Given the description of an element on the screen output the (x, y) to click on. 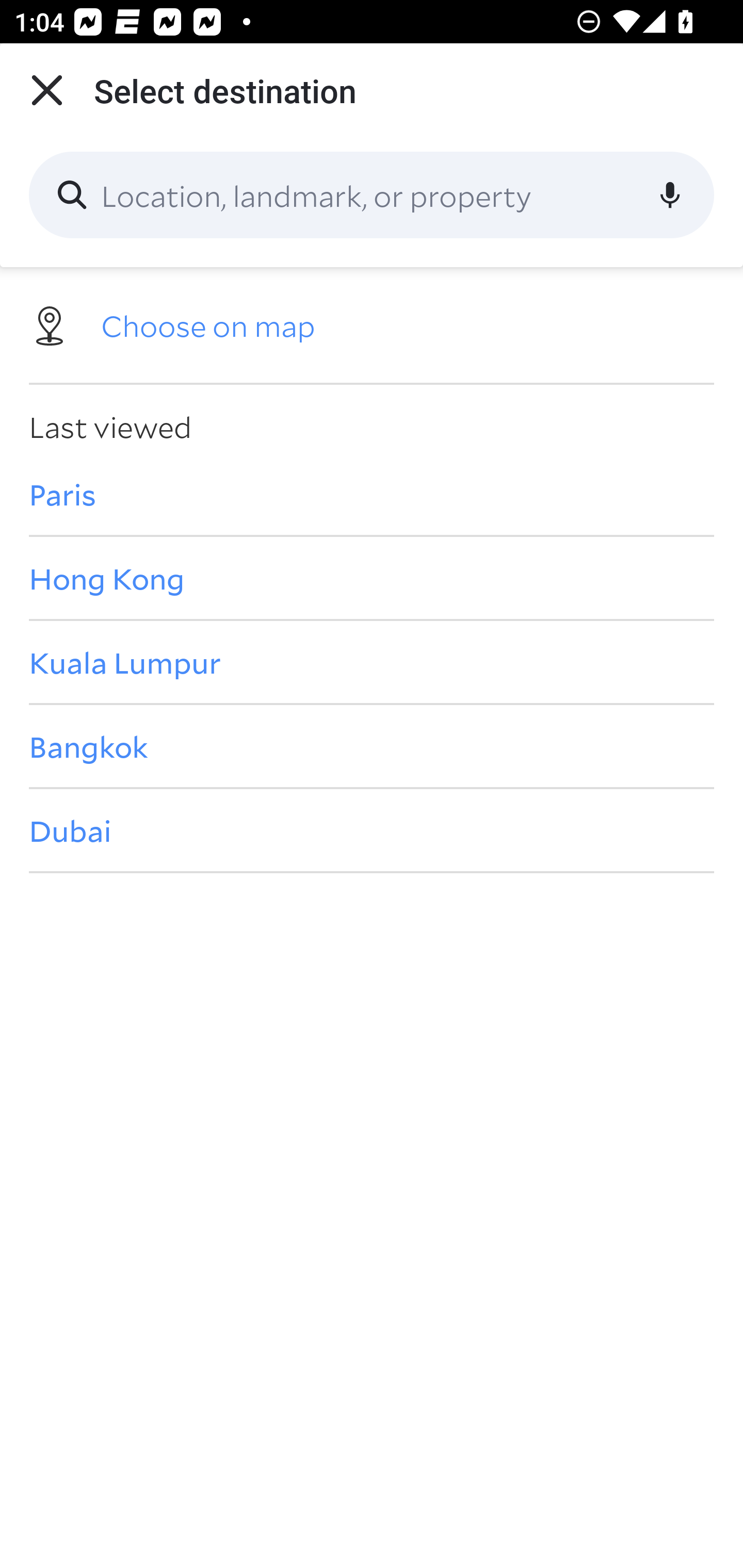
Location, landmark, or property (371, 195)
Choose on map (371, 324)
Paris (371, 493)
Hong Kong (371, 577)
Kuala Lumpur (371, 661)
Bangkok (371, 746)
Dubai (371, 829)
